Given the description of an element on the screen output the (x, y) to click on. 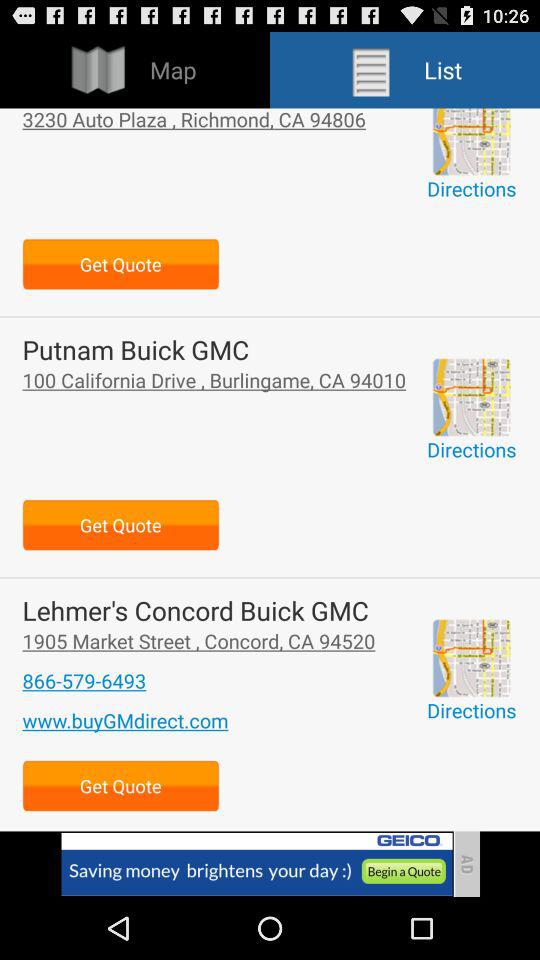
enlarge map (471, 141)
